Given the description of an element on the screen output the (x, y) to click on. 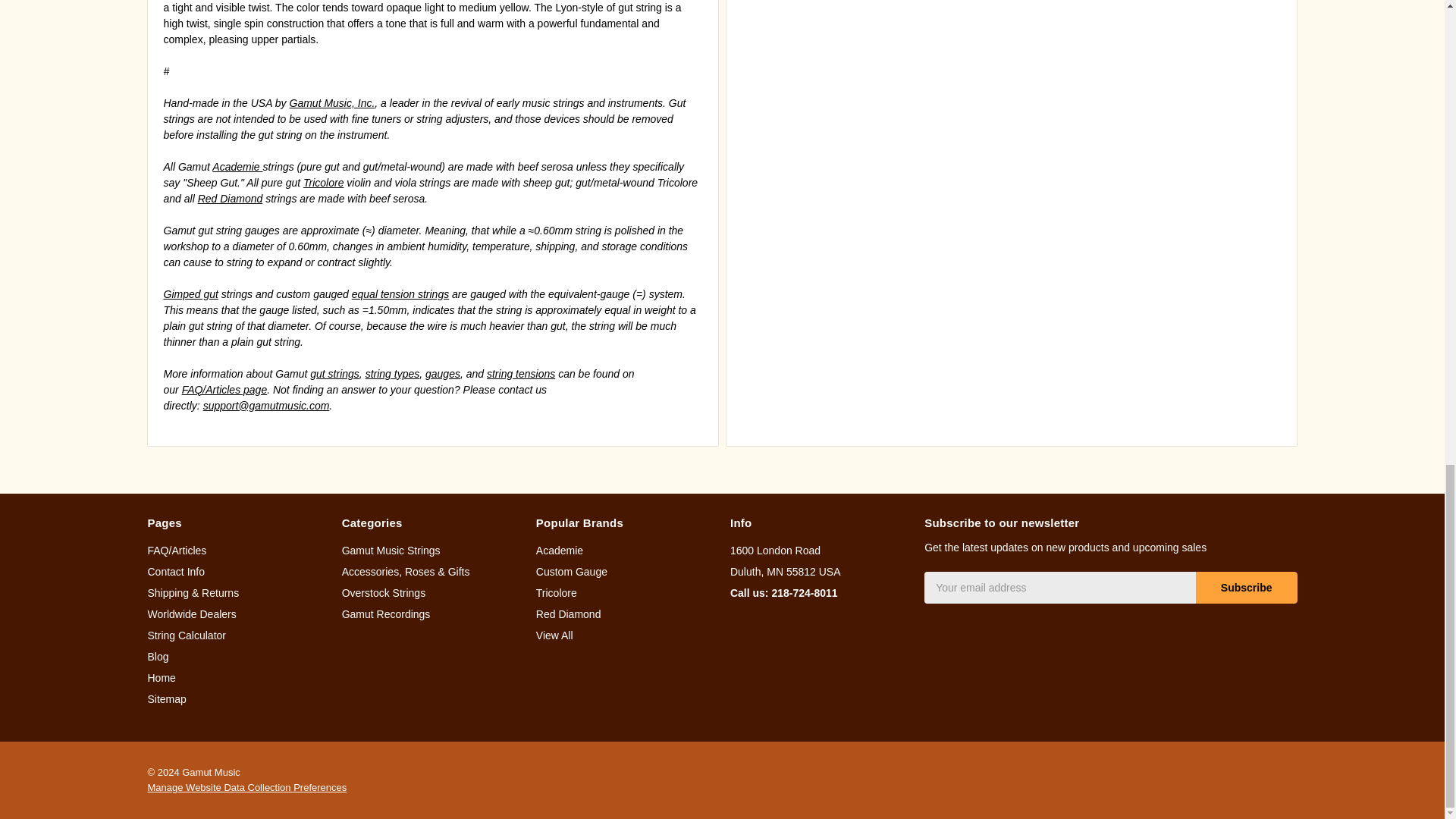
Subscribe (1246, 587)
